Given the description of an element on the screen output the (x, y) to click on. 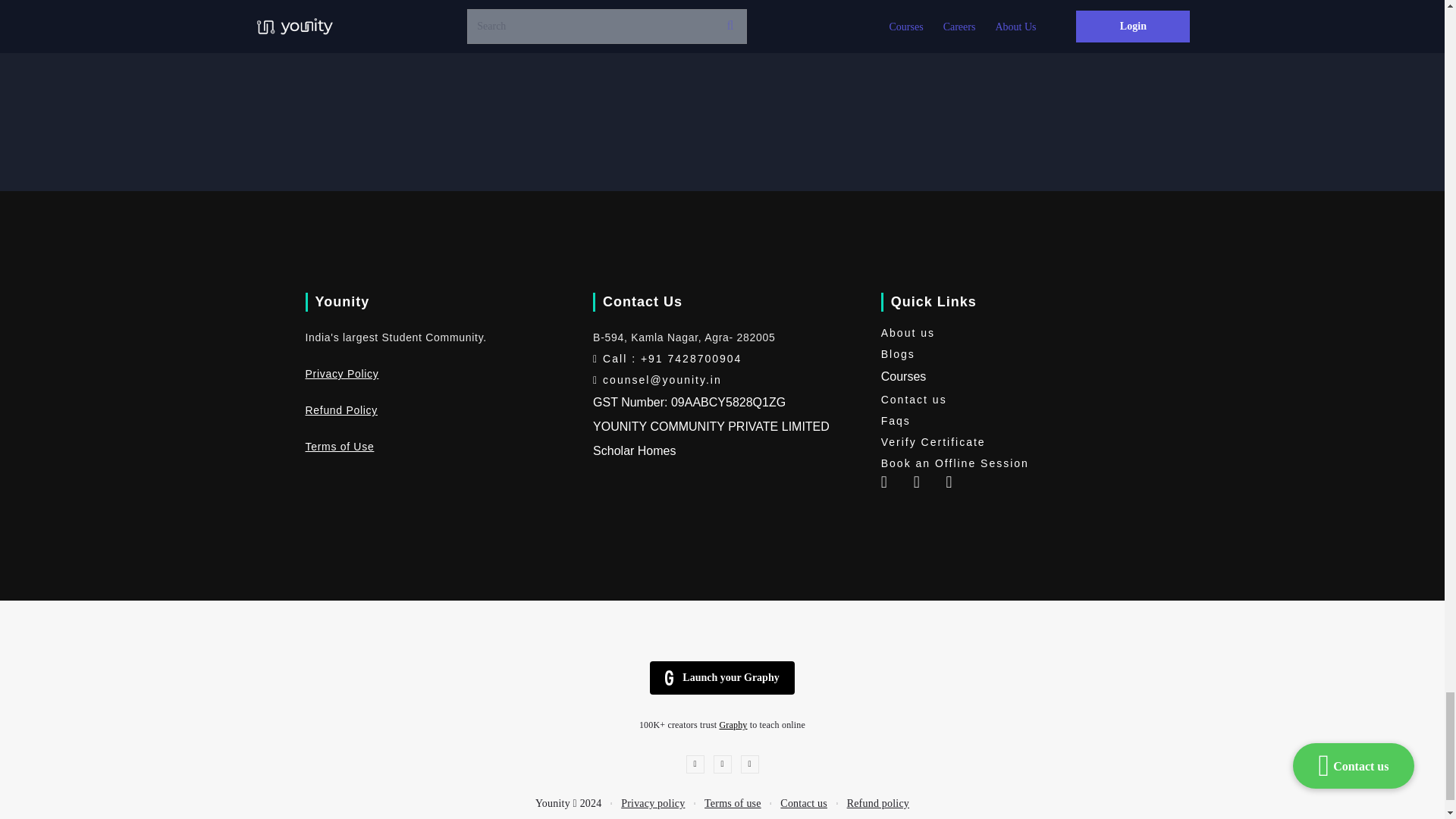
Refund Policy (340, 410)
Blogs (1009, 353)
Faqs (1009, 420)
Contact us (1009, 399)
Courses (903, 376)
Privacy Policy (341, 373)
Terms of Use (339, 446)
About us (1009, 332)
